Given the description of an element on the screen output the (x, y) to click on. 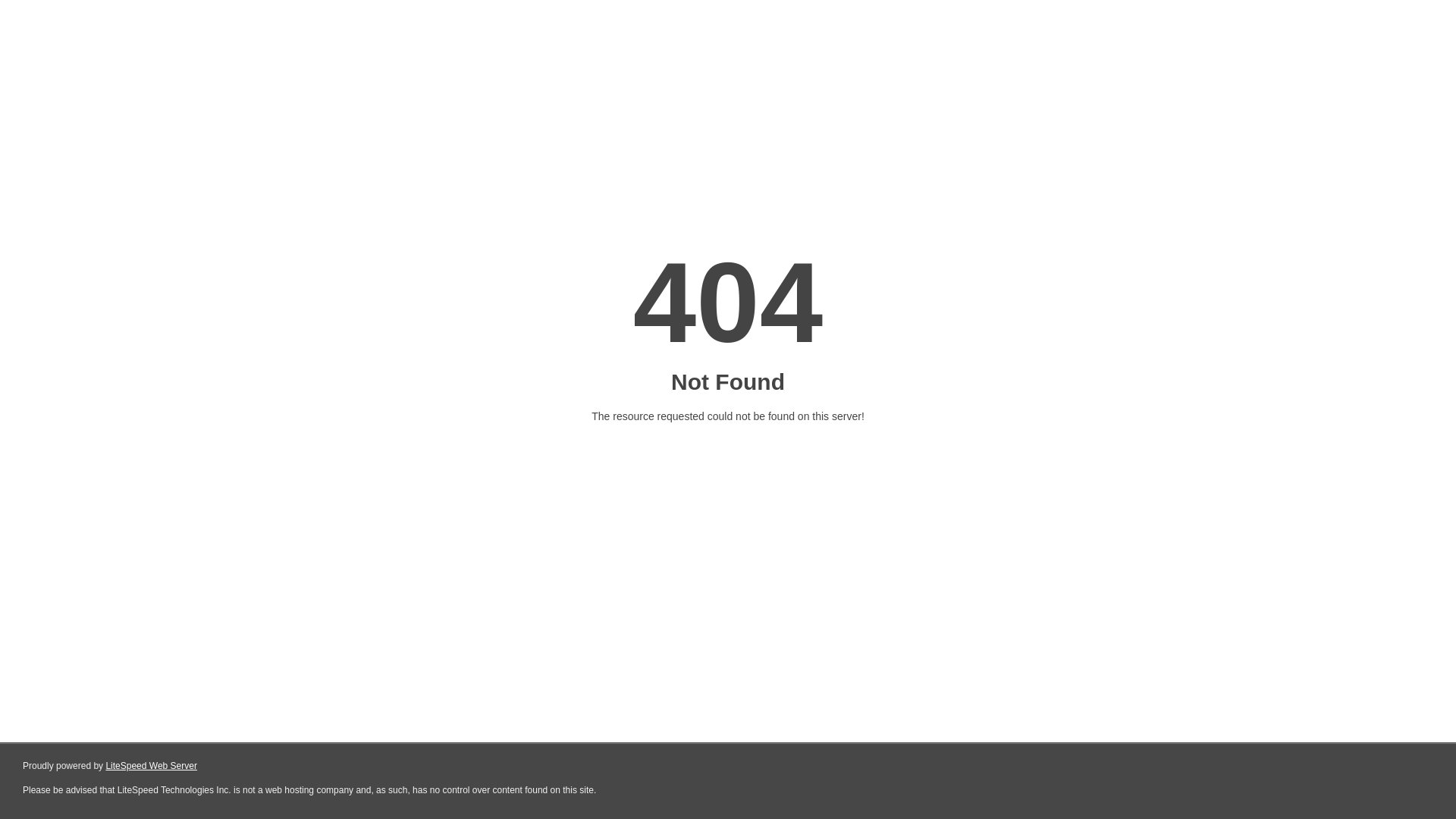
LiteSpeed Web Server Element type: text (151, 765)
